Given the description of an element on the screen output the (x, y) to click on. 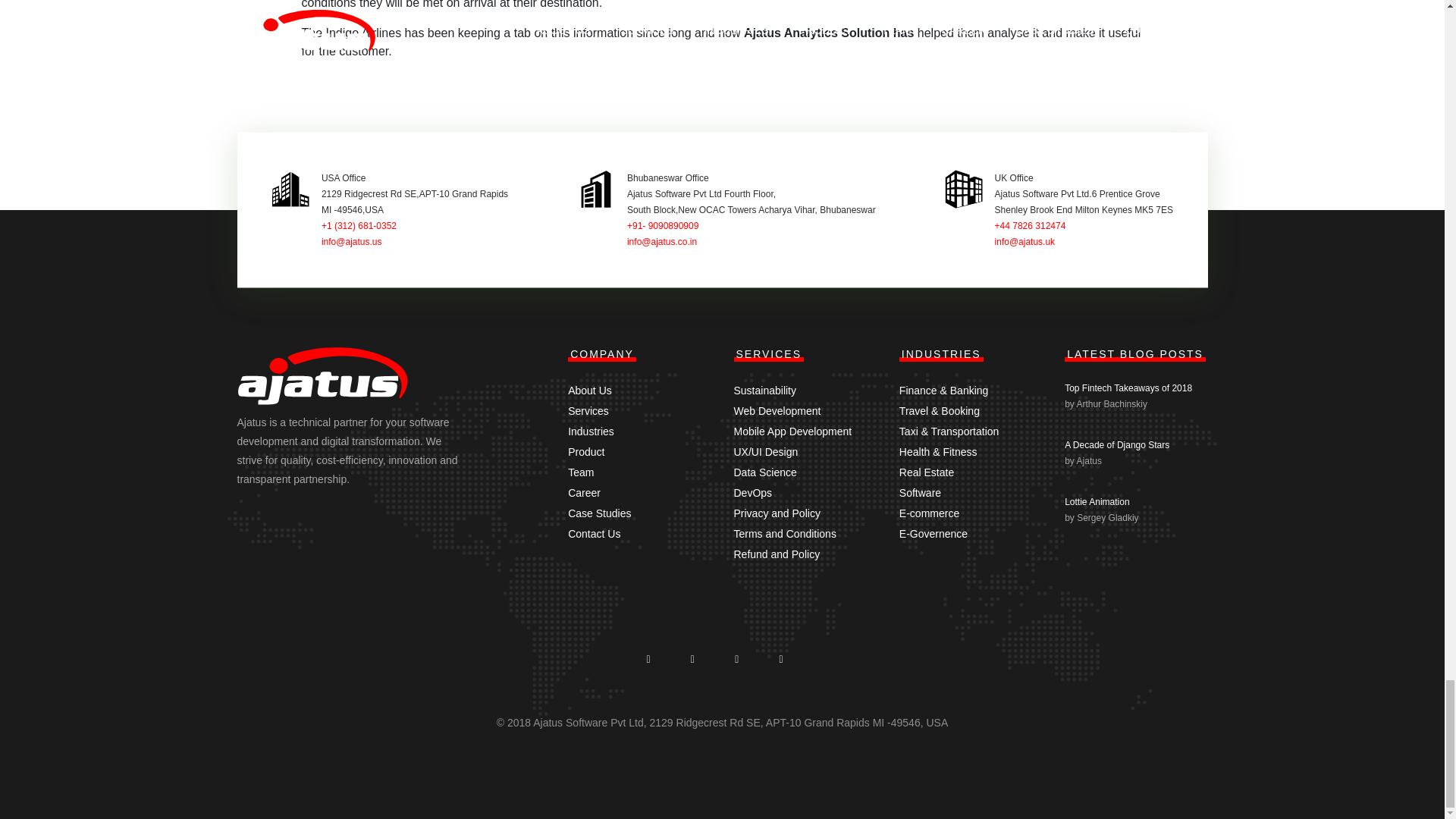
INDUSTRIES (941, 353)
Industries (590, 431)
About Us (589, 390)
Case Studies (598, 512)
Career (583, 492)
Product (585, 451)
Real Estate (926, 472)
Sustainability (764, 390)
COMPANY (601, 353)
Services (587, 410)
SERVICES (769, 353)
Ajatus Software (322, 380)
Mobile App Development (792, 431)
Terms and Conditions (784, 533)
Web Development (777, 410)
